Given the description of an element on the screen output the (x, y) to click on. 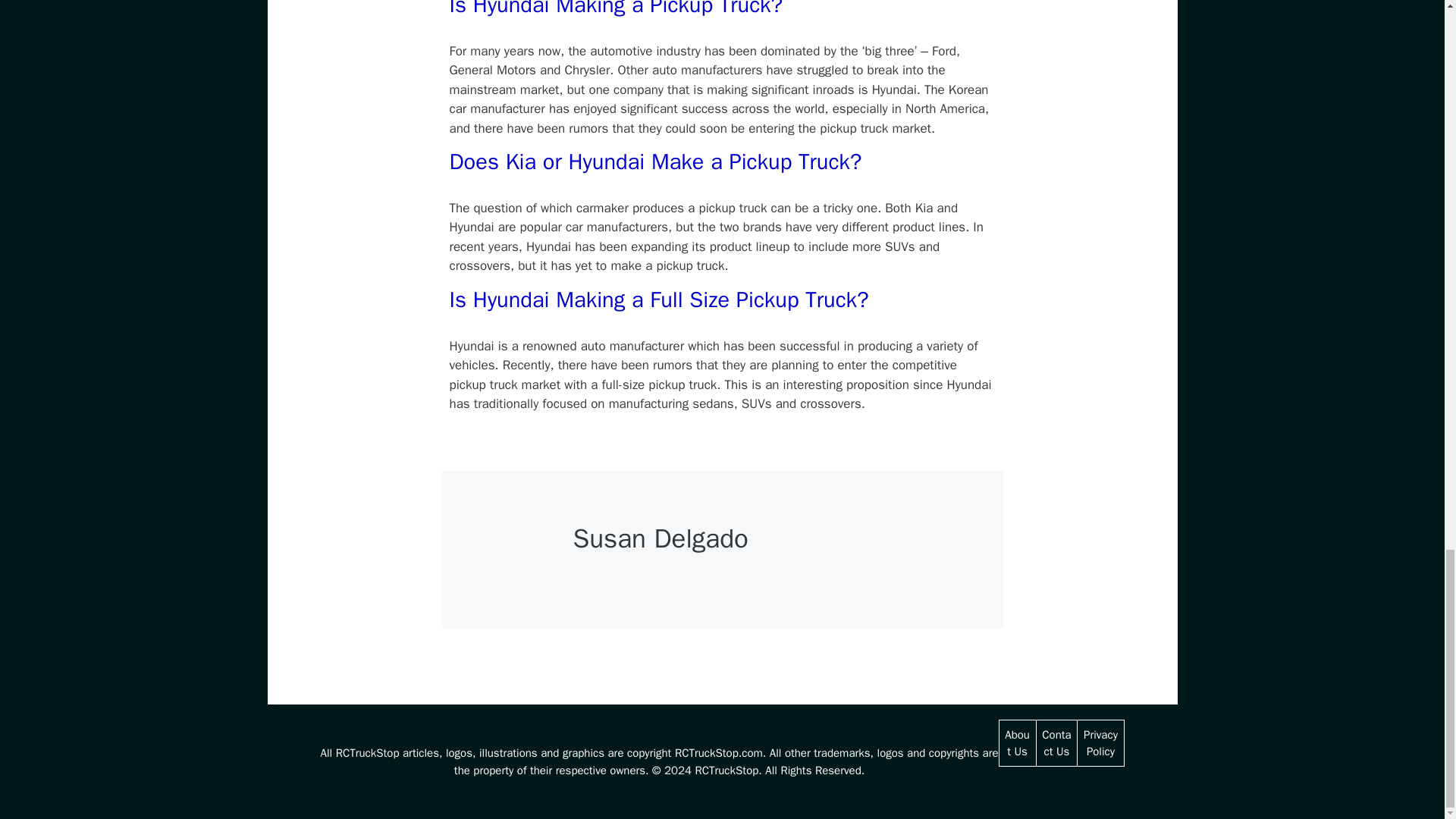
Is Hyundai Making a Full Size Pickup Truck? (657, 299)
Does Kia or Hyundai Make a Pickup Truck? (654, 162)
Contact Us (1056, 743)
Privacy Policy (1100, 743)
Is Hyundai Making a Pickup Truck? (615, 9)
